Given the description of an element on the screen output the (x, y) to click on. 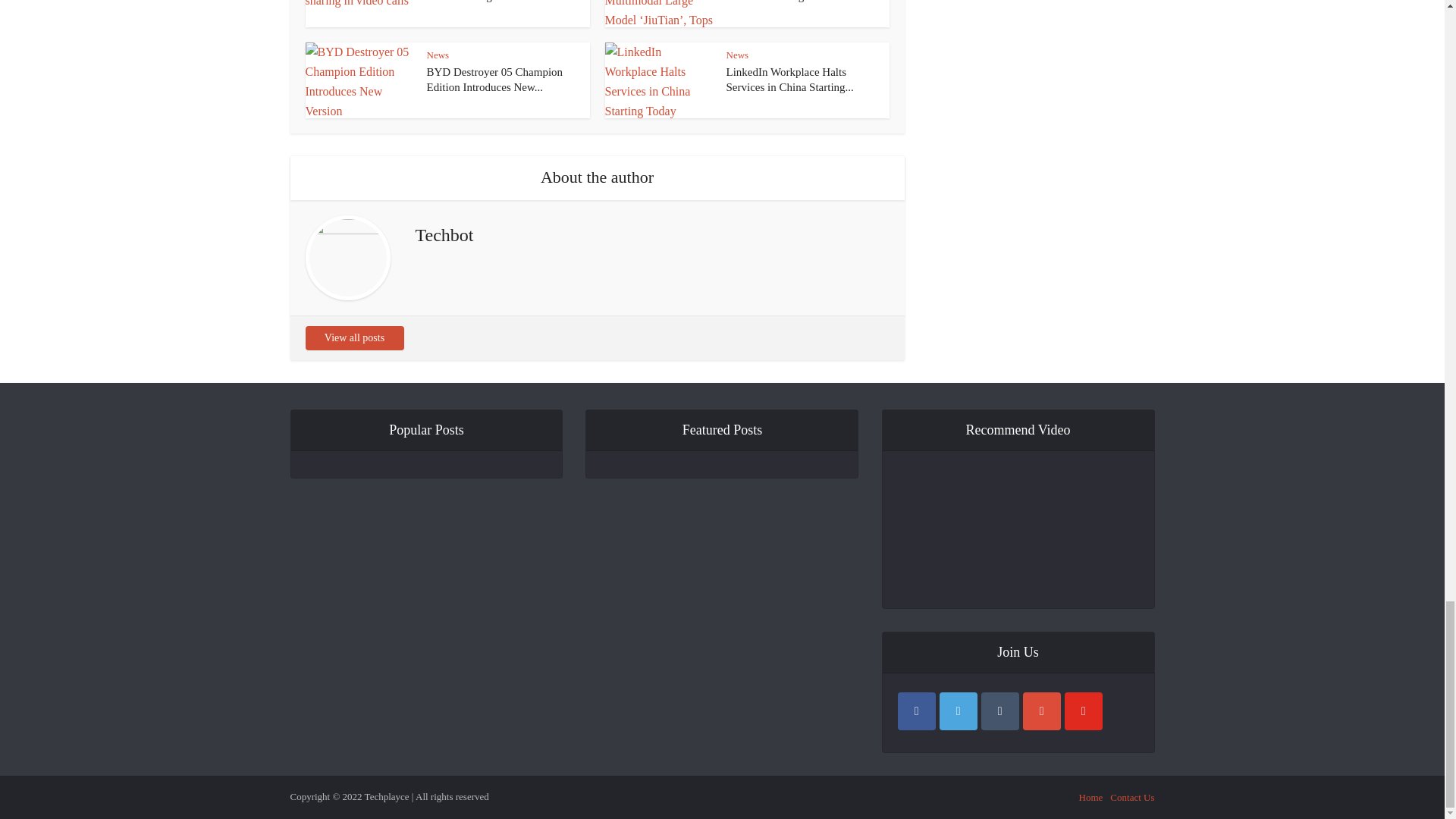
WhatsApp finally lets you do screen sharing in video... (493, 1)
WhatsApp finally lets you do screen sharing in video calls (493, 1)
LinkedIn Workplace Halts Services in China Starting Today (789, 79)
BYD Destroyer 05 Champion Edition Introduces New Version (494, 79)
